Given the description of an element on the screen output the (x, y) to click on. 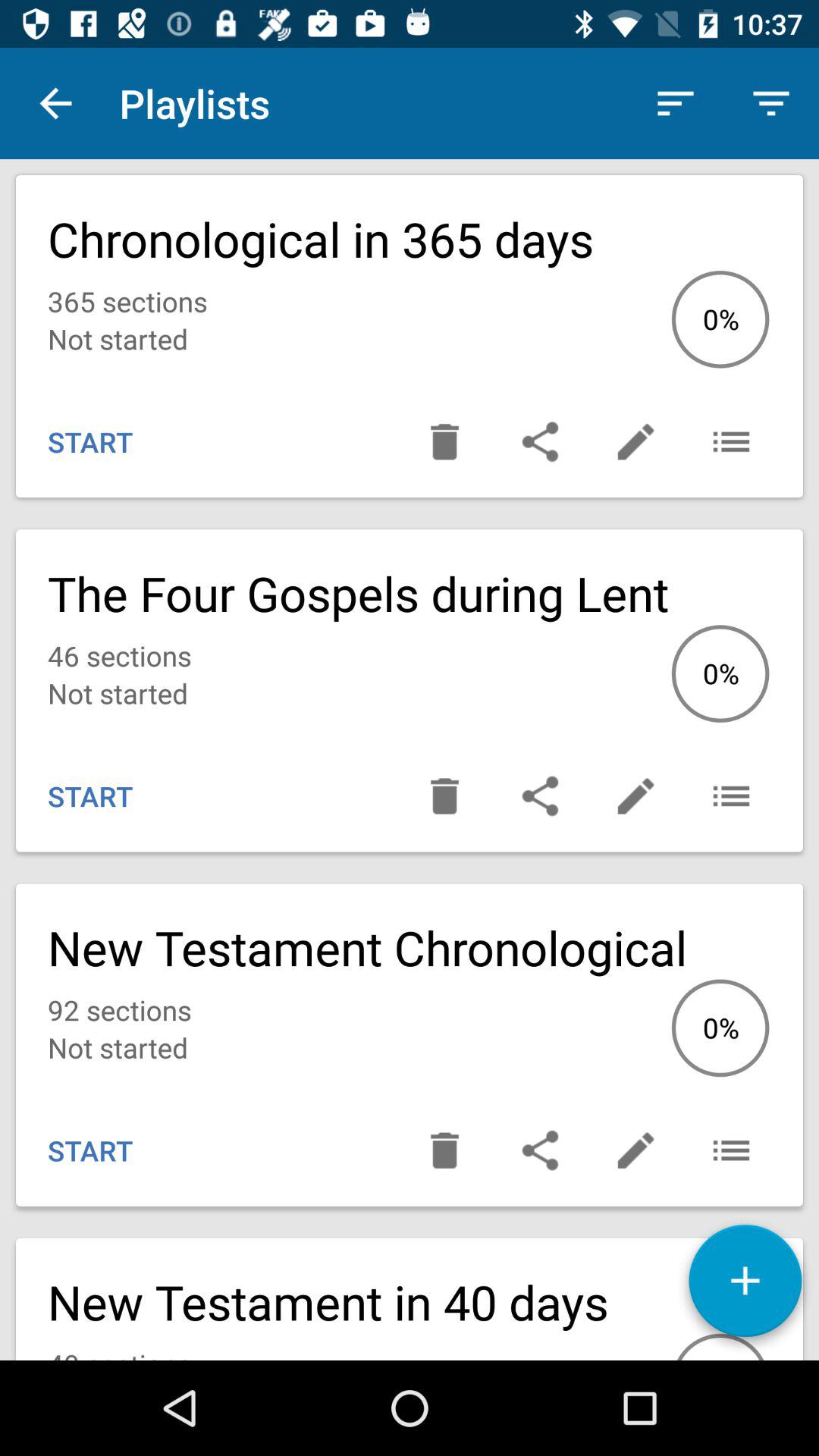
turn on icon next to the playlists icon (55, 103)
